Given the description of an element on the screen output the (x, y) to click on. 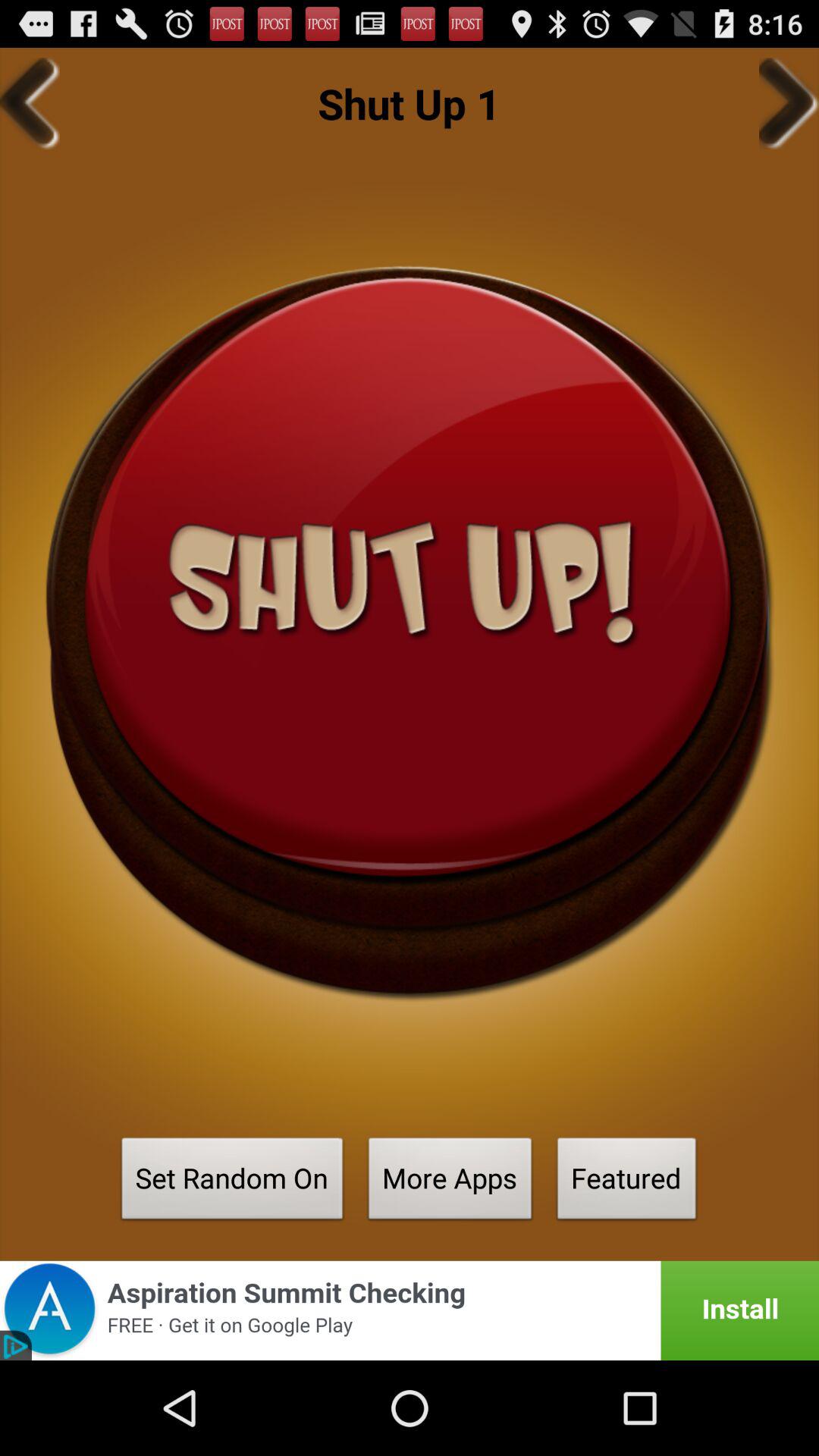
swipe until the set random on (232, 1182)
